Given the description of an element on the screen output the (x, y) to click on. 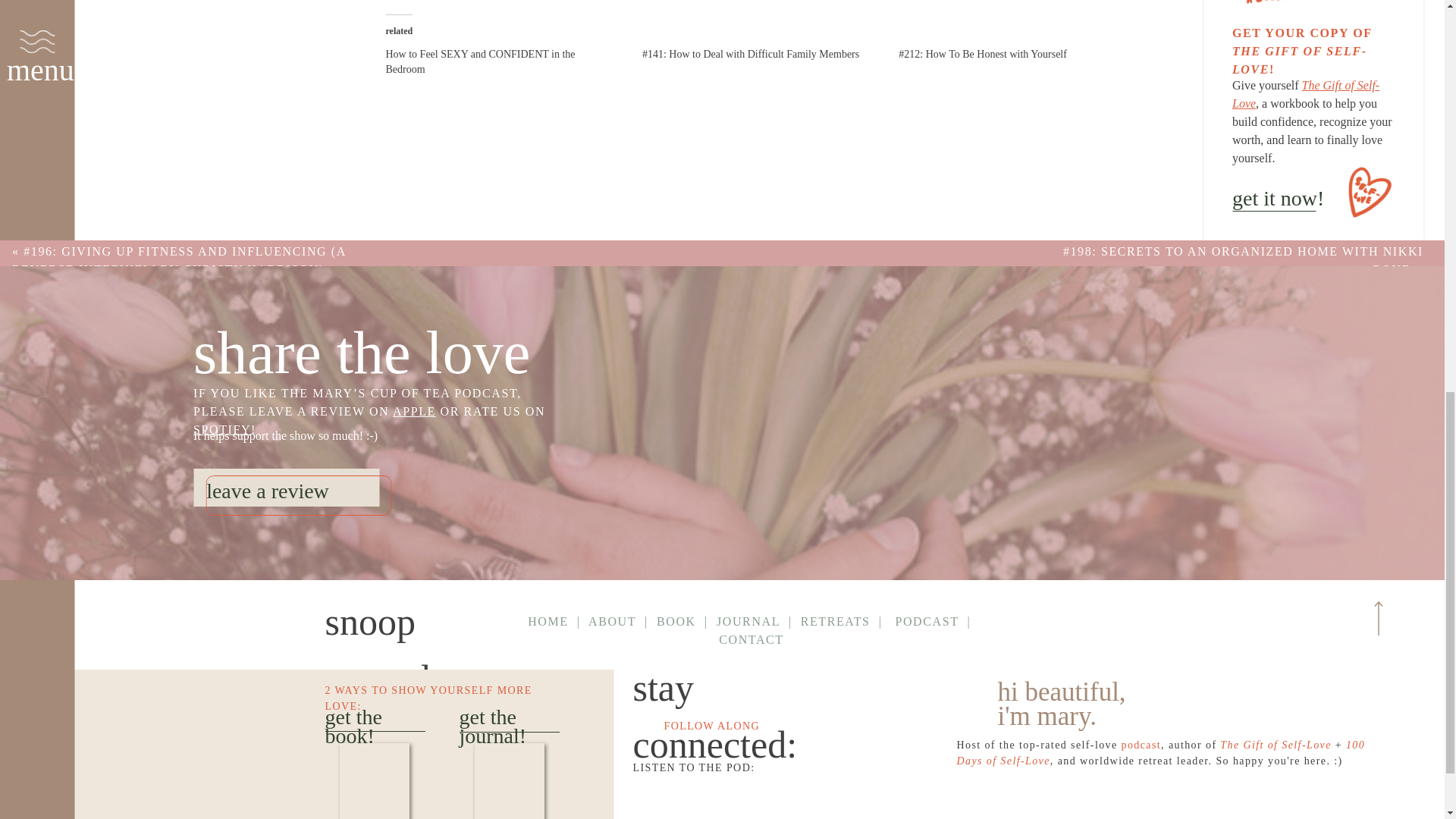
How to Feel SEXY and CONFIDENT in the Bedroom (480, 61)
The Gift of Self-Love (1313, 41)
How to Feel SEXY and CONFIDENT in the Bedroom (1304, 93)
get it now! (480, 61)
